Given the description of an element on the screen output the (x, y) to click on. 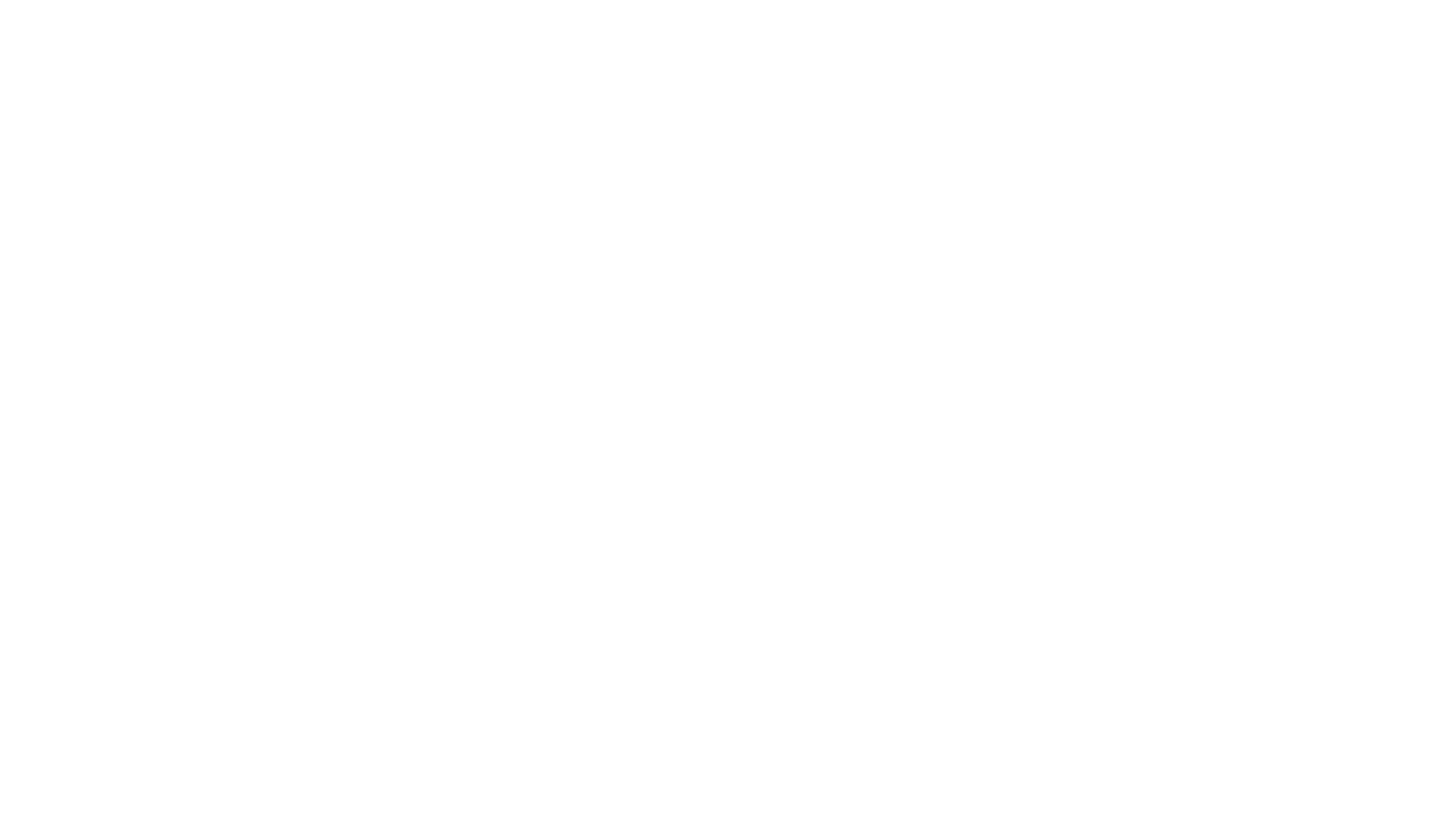
Google conversion frame Element type: hover (75, 24)
